Given the description of an element on the screen output the (x, y) to click on. 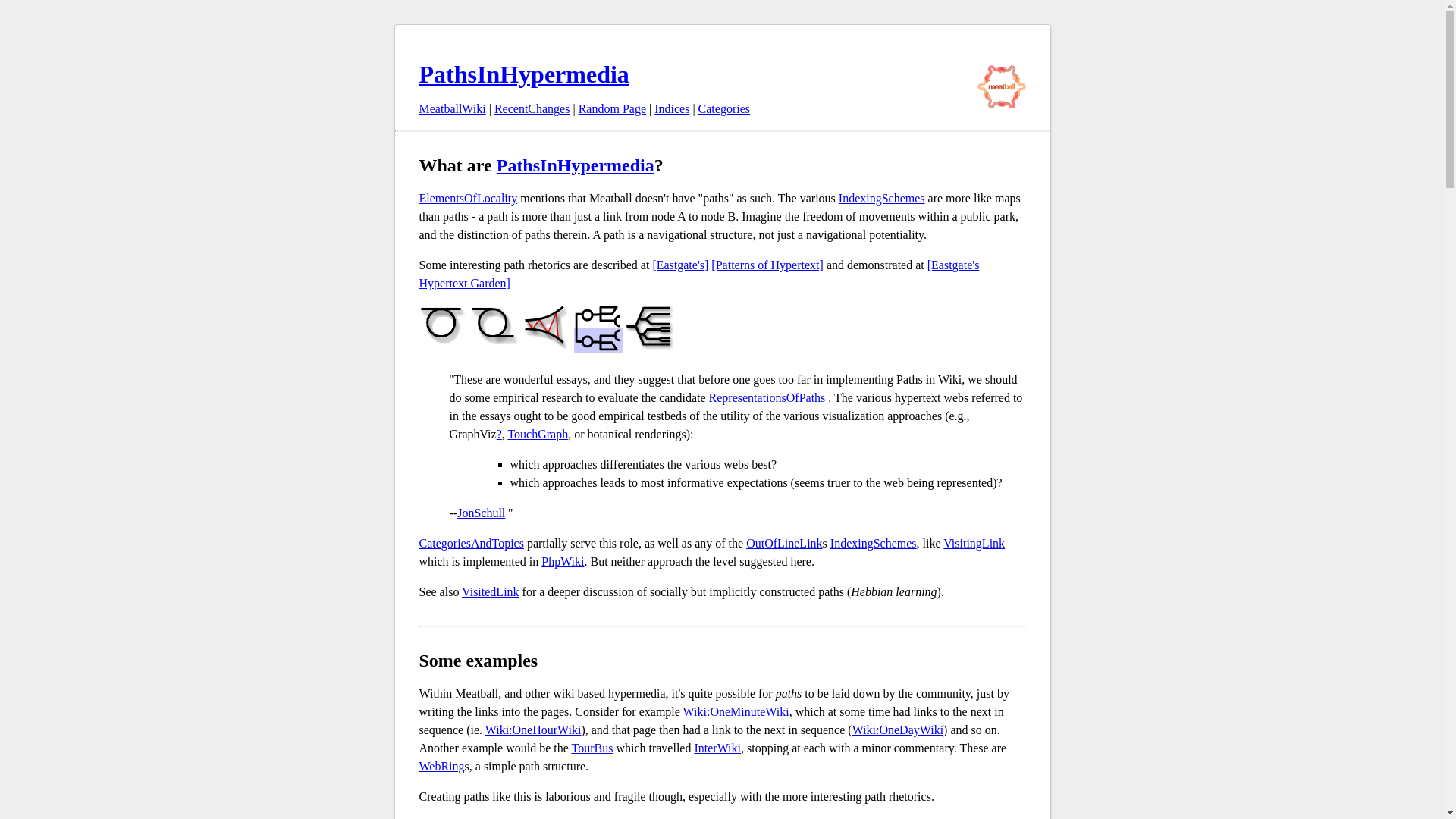
IndexingSchemes (881, 197)
ElementsOfLocality (467, 197)
VisitingLink (973, 543)
Random Page (612, 108)
WebRing (441, 766)
Wiki:OneHourWiki (532, 729)
PathsInHypermedia (523, 73)
Indices (670, 108)
Wiki:OneDayWiki (897, 729)
OutOfLineLink (783, 543)
PhpWiki (562, 561)
IndexingSchemes (873, 543)
RepresentationsOfPaths (767, 397)
TouchGraph (536, 433)
TourBus (591, 748)
